Given the description of an element on the screen output the (x, y) to click on. 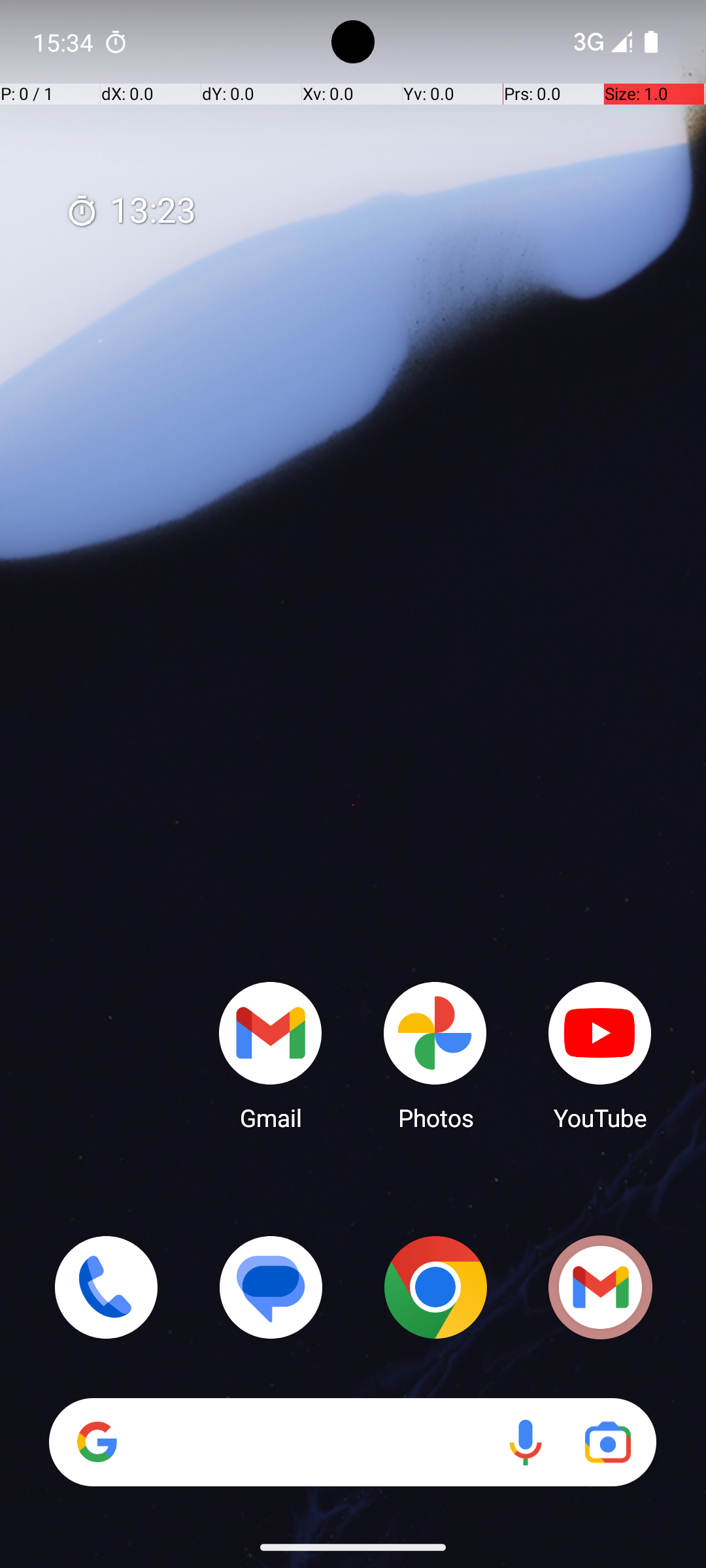
13:23 Element type: android.widget.TextView (130, 210)
